Given the description of an element on the screen output the (x, y) to click on. 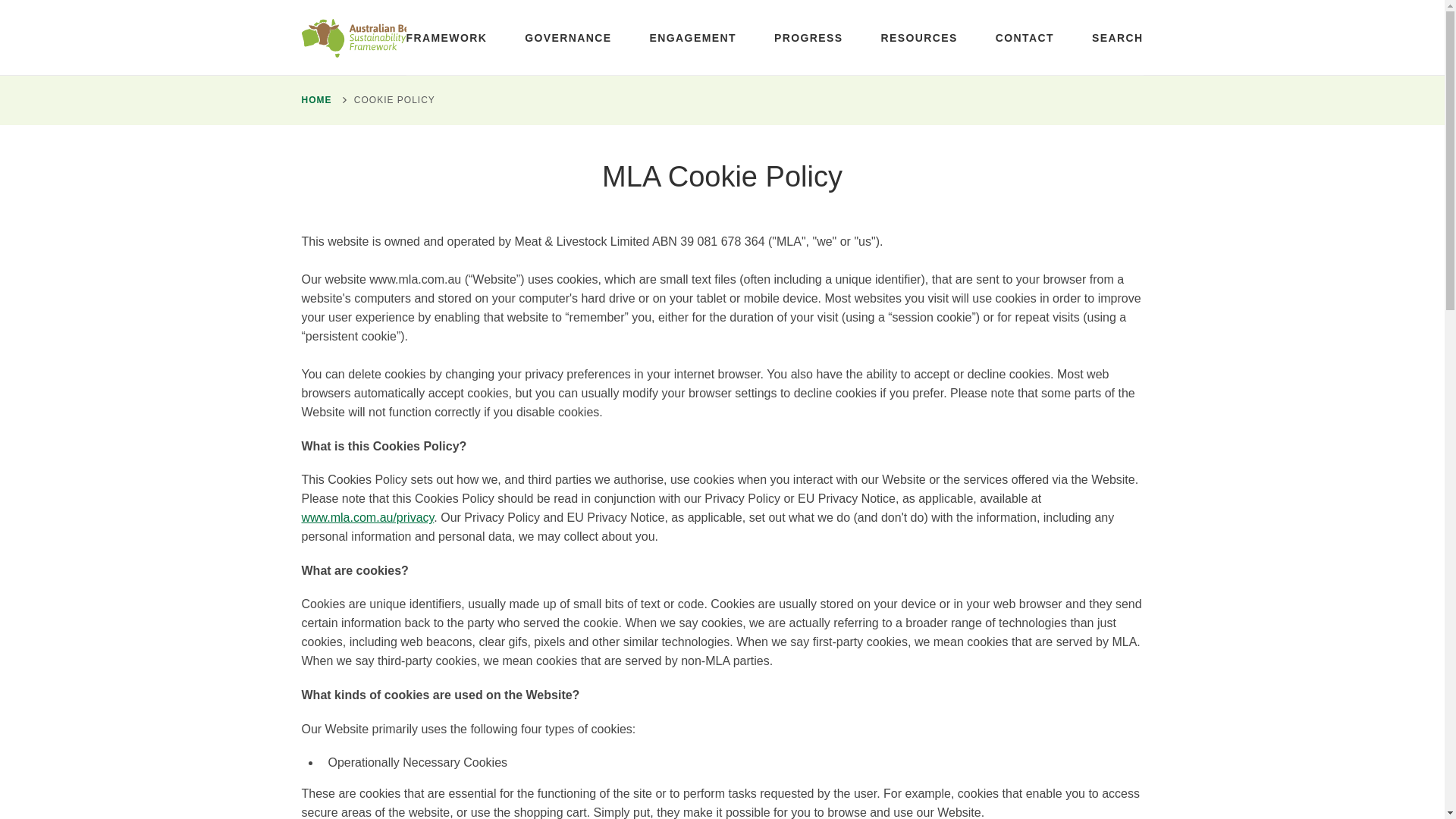
Theme 2: Economic Resilience (373, 81)
Deep dives (319, 81)
Goal setting (321, 81)
Industry forum (327, 81)
Materiality (317, 81)
Value-chain engagement (356, 81)
Sustainable Development Goals (358, 87)
Global Roundtable for Sustainable Beef (348, 87)
Progress (808, 37)
Materiality (317, 81)
SEARCH (1117, 37)
RESOURCES (918, 37)
Value-chain engagement (356, 81)
Sustainable Development Goals (358, 87)
Industry forum (327, 81)
